Given the description of an element on the screen output the (x, y) to click on. 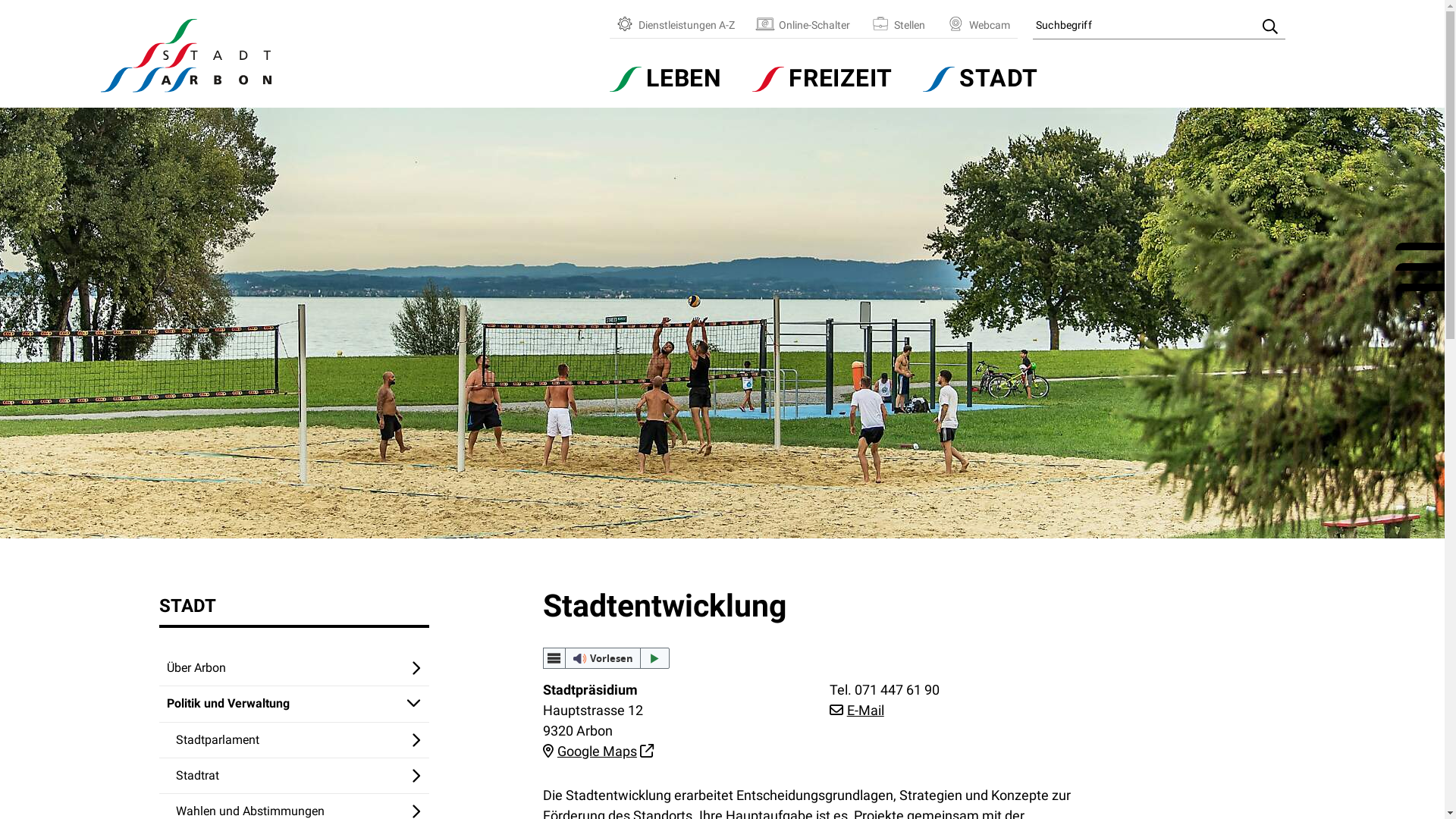
STADT Element type: text (980, 78)
Google Maps Element type: text (597, 751)
Stellen Element type: text (898, 25)
Youtube Arbon Element type: text (1419, 287)
LEBEN Element type: text (673, 78)
Online-Schalter Element type: text (803, 25)
Instagram Arbon Element type: text (1419, 266)
Vorlesen Element type: text (605, 657)
FREIZEIT Element type: text (822, 78)
Dienstleistungen A-Z Element type: text (675, 25)
Suche starten Element type: text (1270, 26)
Politik und Verwaltung Element type: text (294, 703)
E-Mail Element type: text (856, 710)
Facebook Arbon Element type: text (1419, 246)
Stadtparlament Element type: text (294, 740)
Webcam Element type: text (978, 25)
Stadtrat Element type: text (294, 775)
